Given the description of an element on the screen output the (x, y) to click on. 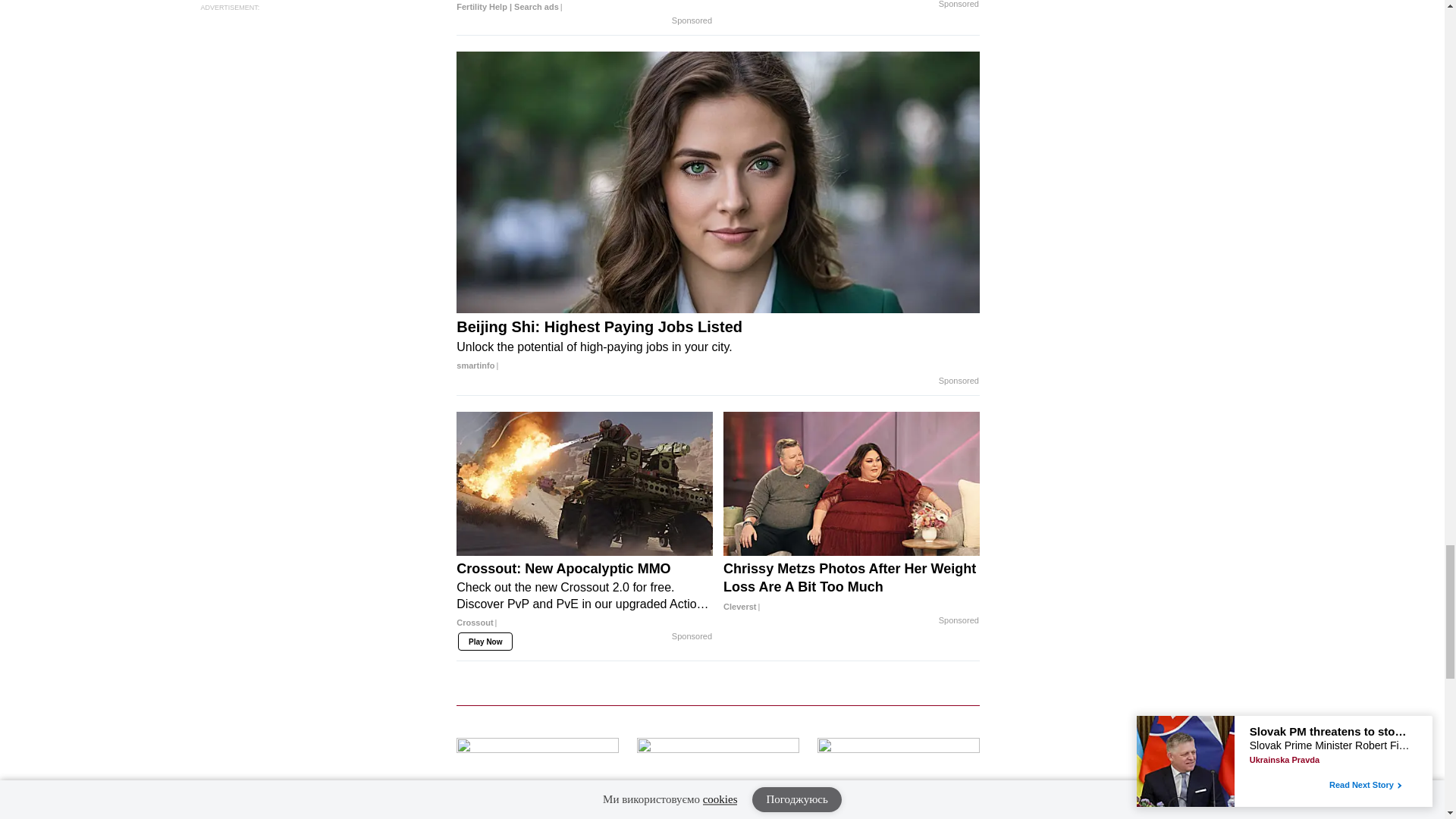
Beijing Shi: Highest Paying Jobs Listed (718, 345)
